Given the description of an element on the screen output the (x, y) to click on. 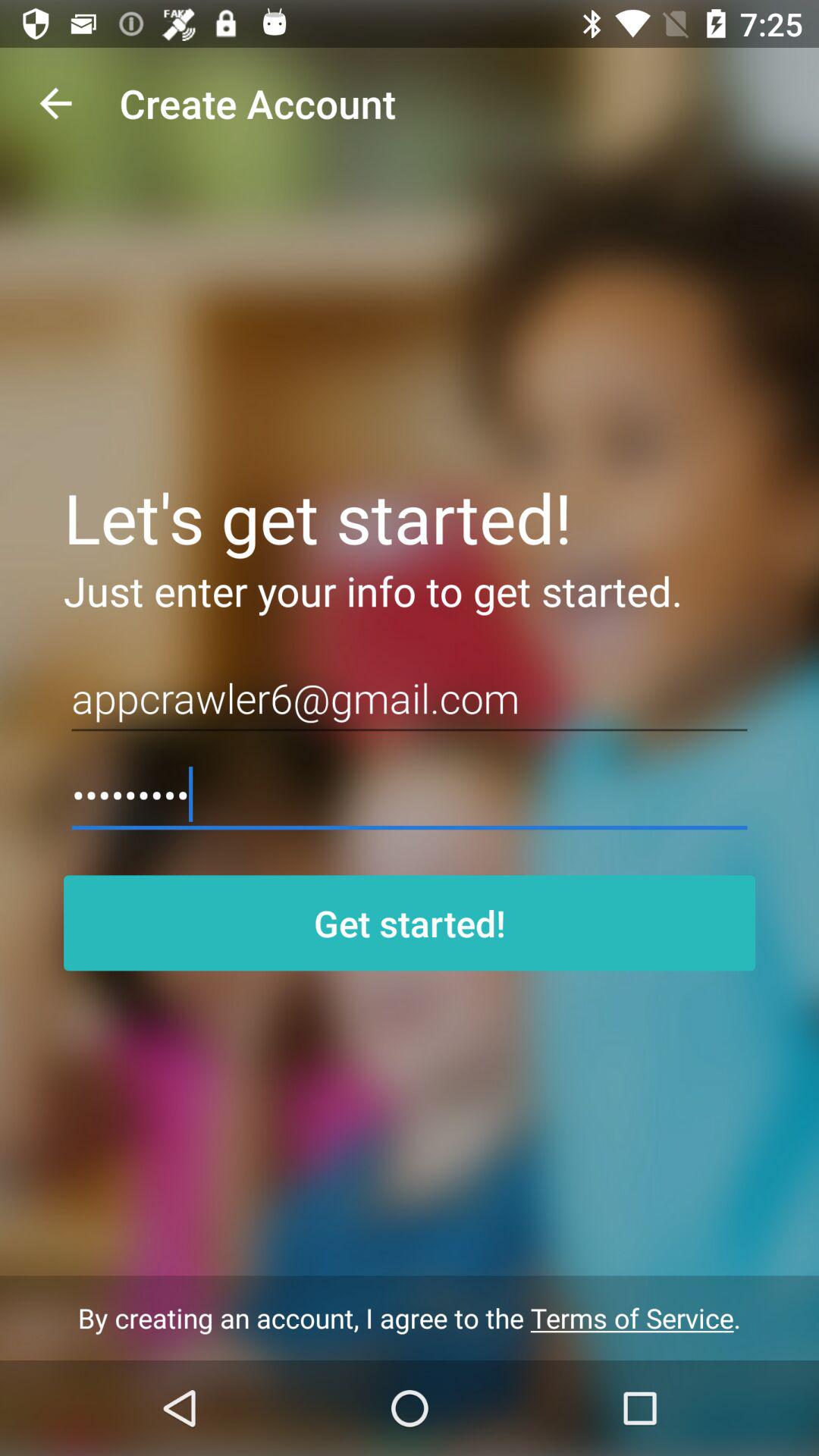
open by creating an icon (409, 1317)
